Given the description of an element on the screen output the (x, y) to click on. 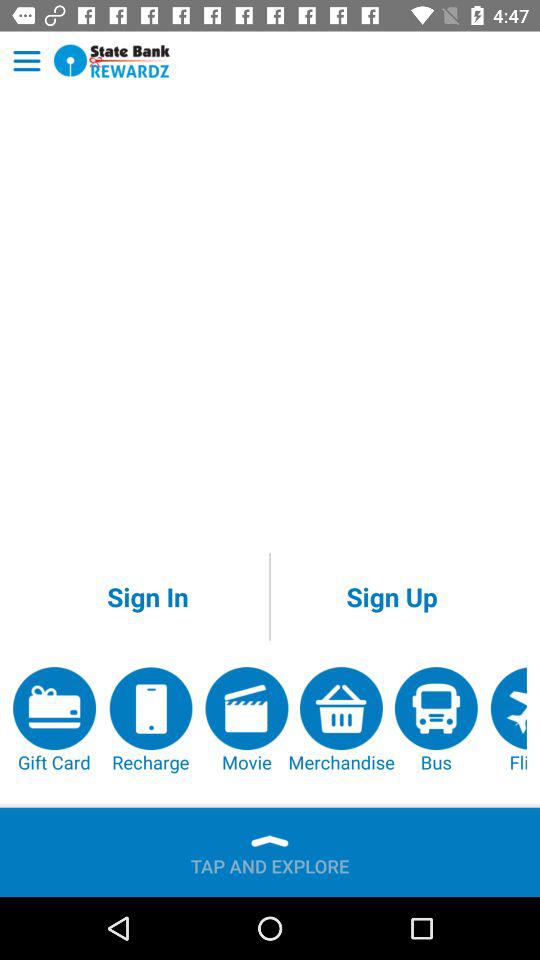
turn on icon below the sign up item (341, 720)
